Given the description of an element on the screen output the (x, y) to click on. 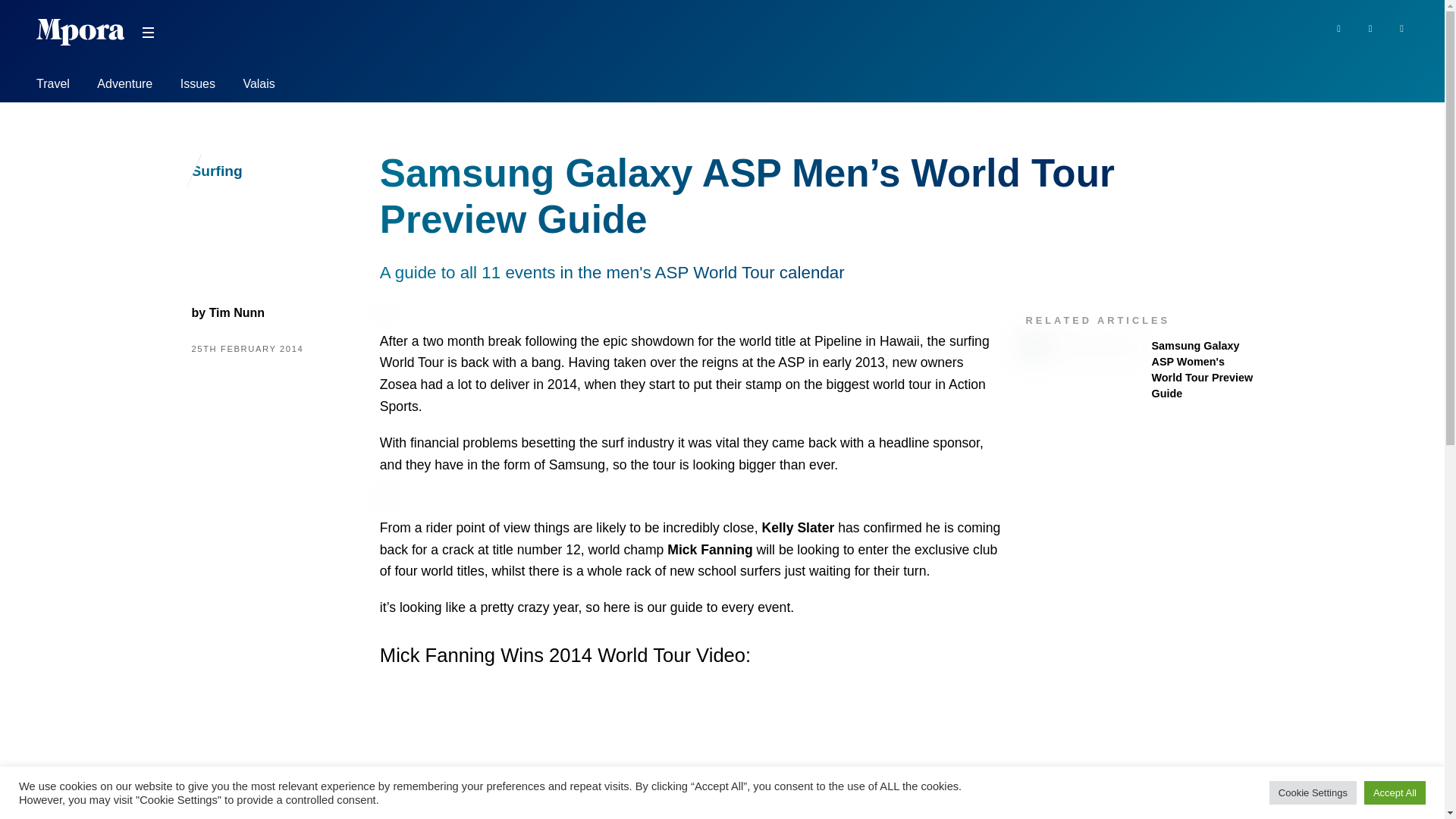
Follow us on Twitter (1370, 27)
Issues (197, 85)
In Numbers: Kelly Slater (797, 527)
Find us on Instagram (1400, 27)
Menu (147, 32)
20 Unforgettable Action Sports Heroes Of 2013 (709, 549)
Valais (259, 85)
Find us on Facebook (1338, 27)
Travel (52, 85)
Adventure (124, 85)
